Given the description of an element on the screen output the (x, y) to click on. 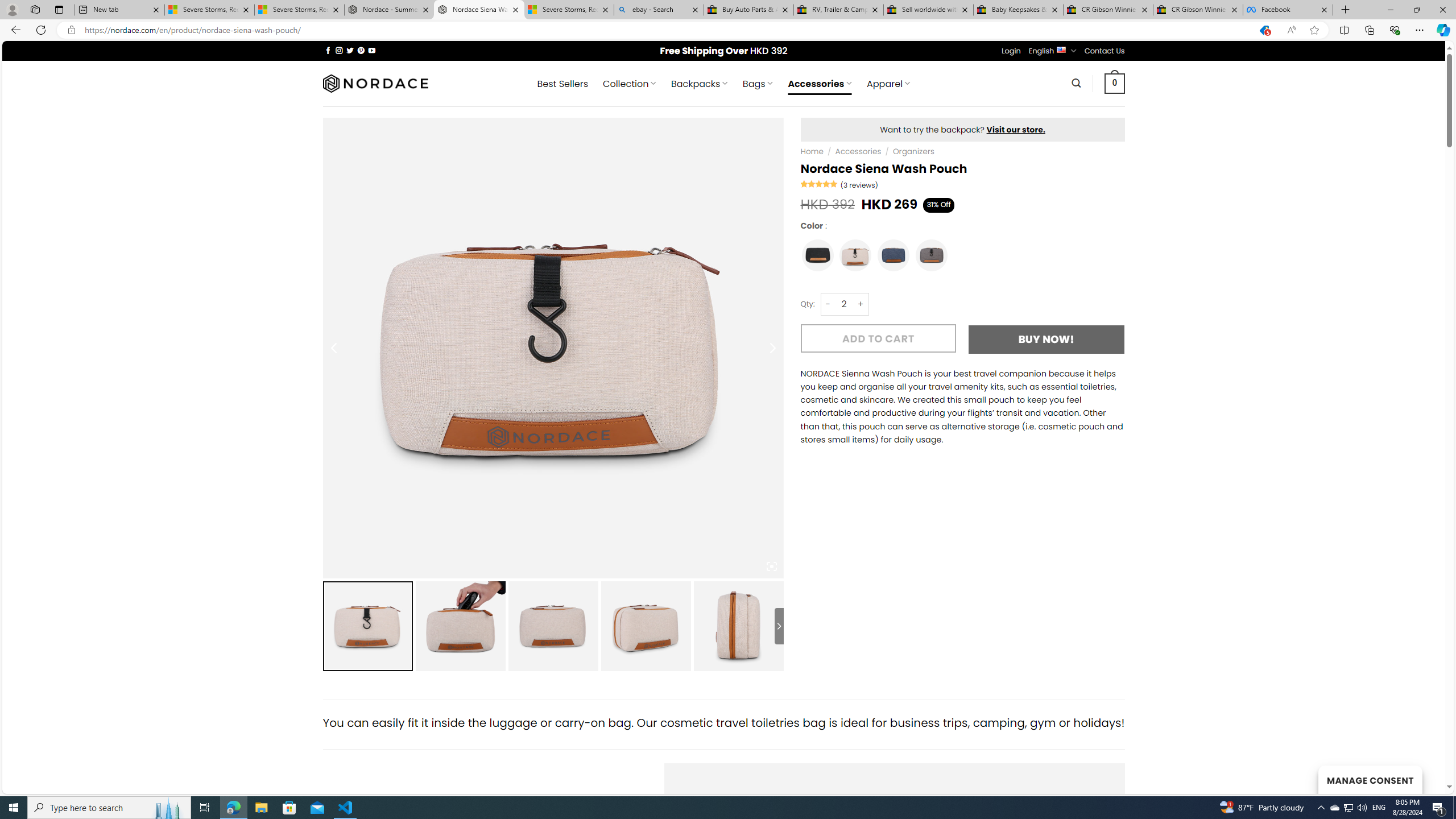
Back (13, 29)
Split screen (1344, 29)
Nordace (374, 83)
Sell worldwide with eBay (928, 9)
BUY NOW! (1046, 339)
New tab (118, 9)
Personal Profile (12, 9)
Close tab (1324, 9)
- (827, 303)
Accessories (857, 151)
ebay - Search (658, 9)
Address and search bar (664, 29)
Follow on Twitter (349, 49)
